Given the description of an element on the screen output the (x, y) to click on. 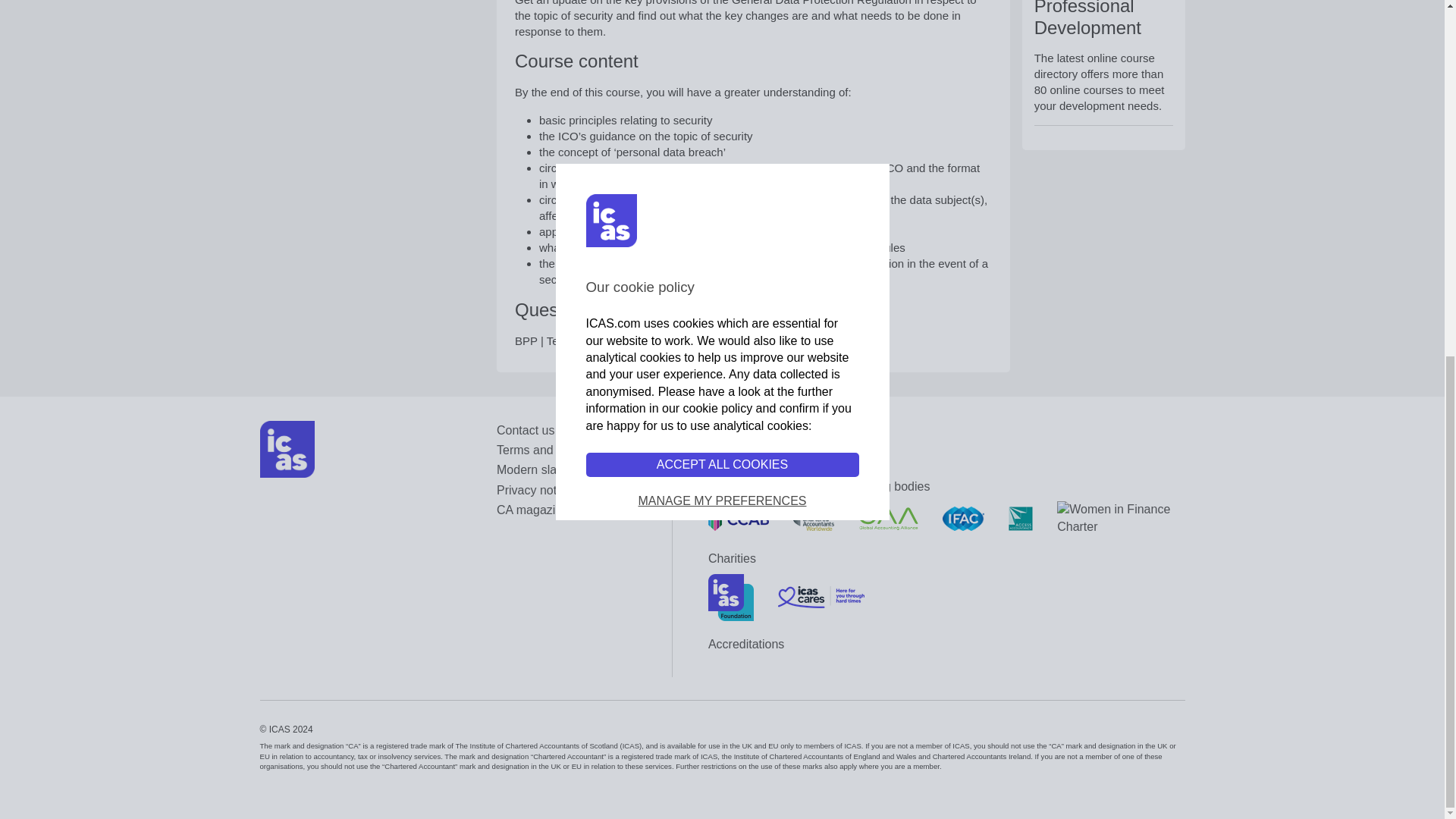
International Federation of Accountants (963, 518)
ICAS Foundation (730, 597)
Women in Finance Charter (1121, 518)
Twitter Icon (744, 454)
Chartered Accountants Worldwide (813, 518)
ICAS Cares (820, 597)
Consultative Committee of Accountancy Bodies (737, 518)
Access Accountancy (1021, 518)
